Given the description of an element on the screen output the (x, y) to click on. 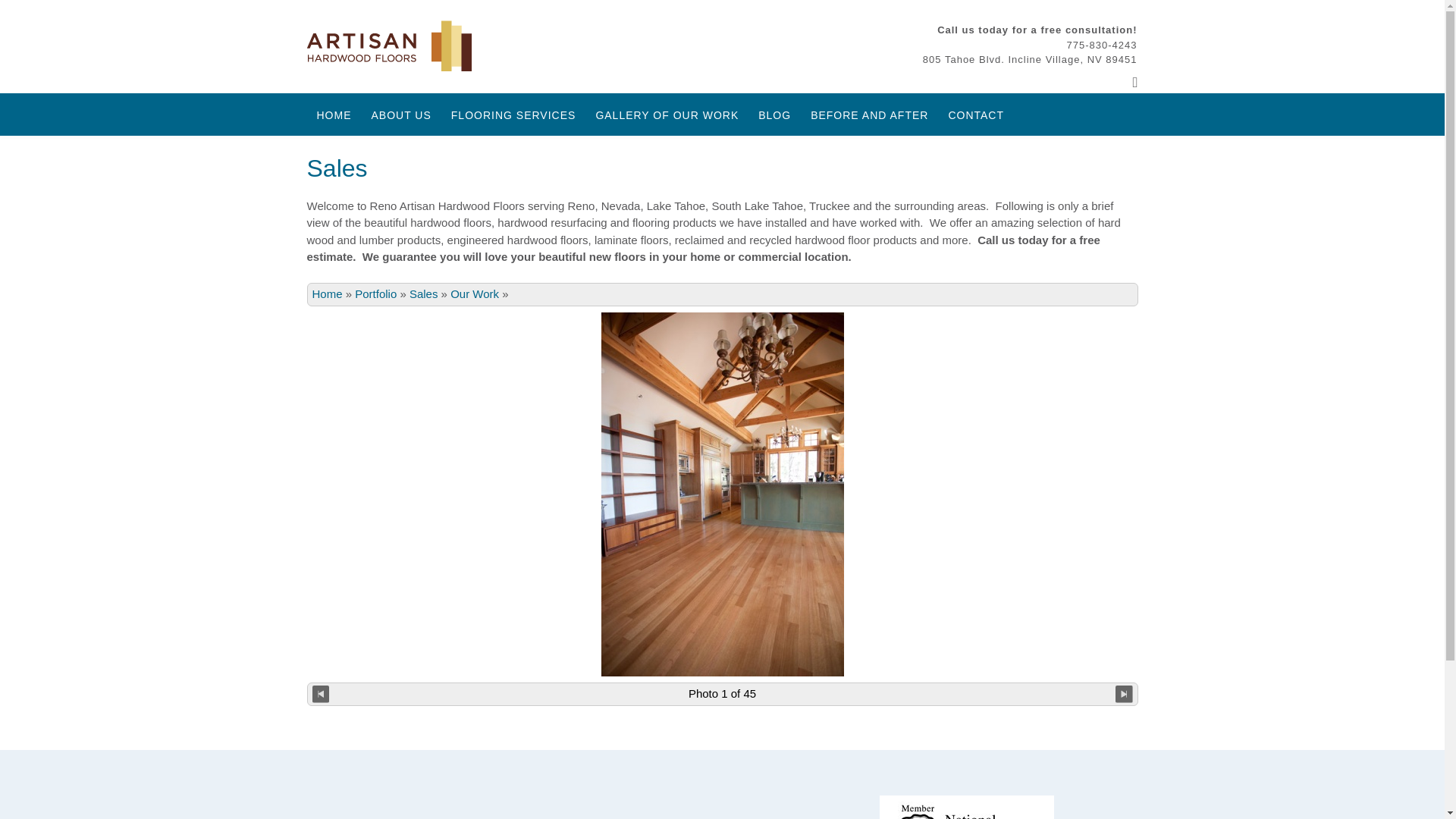
HOME (333, 114)
BLOG (774, 114)
Portfolio (375, 293)
BEFORE AND AFTER (868, 114)
805 Tahoe Blvd. Incline Village, NV 89451 (1030, 59)
Our Work (474, 293)
Page: Sales (423, 293)
Next photo (1123, 693)
Album: Our Work (474, 293)
775-830-4243 (1102, 44)
Previous photo (321, 693)
GALLERY OF OUR WORK (666, 114)
ABOUT US (401, 114)
Sales (423, 293)
